Given the description of an element on the screen output the (x, y) to click on. 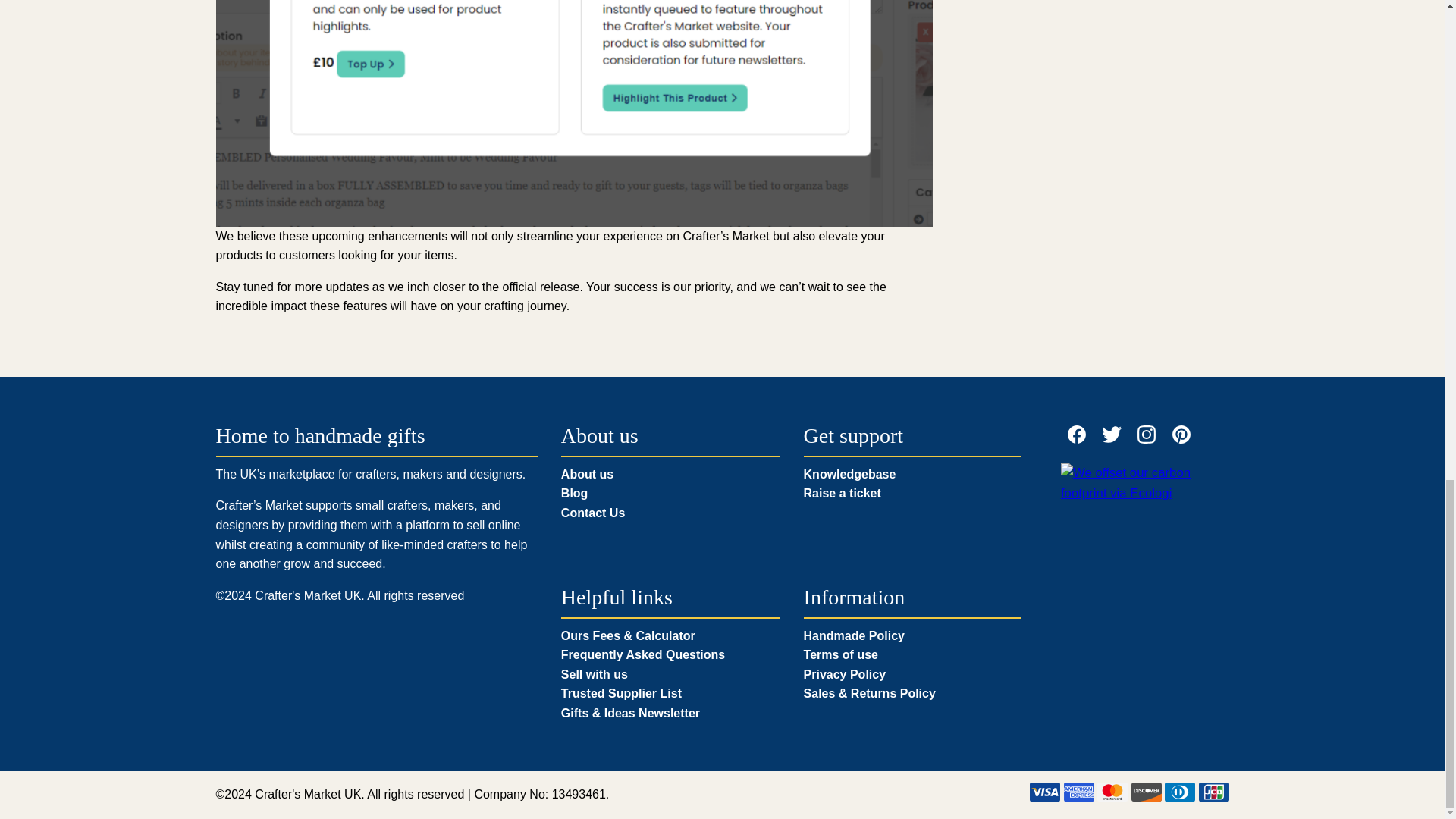
Crafter's Market UK Instagram (1146, 434)
Crafter's Market UK Pinterest (1181, 434)
Crafter's Market UK Facebook (1076, 434)
Crafter's Market UK Twitter (1111, 434)
View our Ecologi profile (1136, 483)
